Given the description of an element on the screen output the (x, y) to click on. 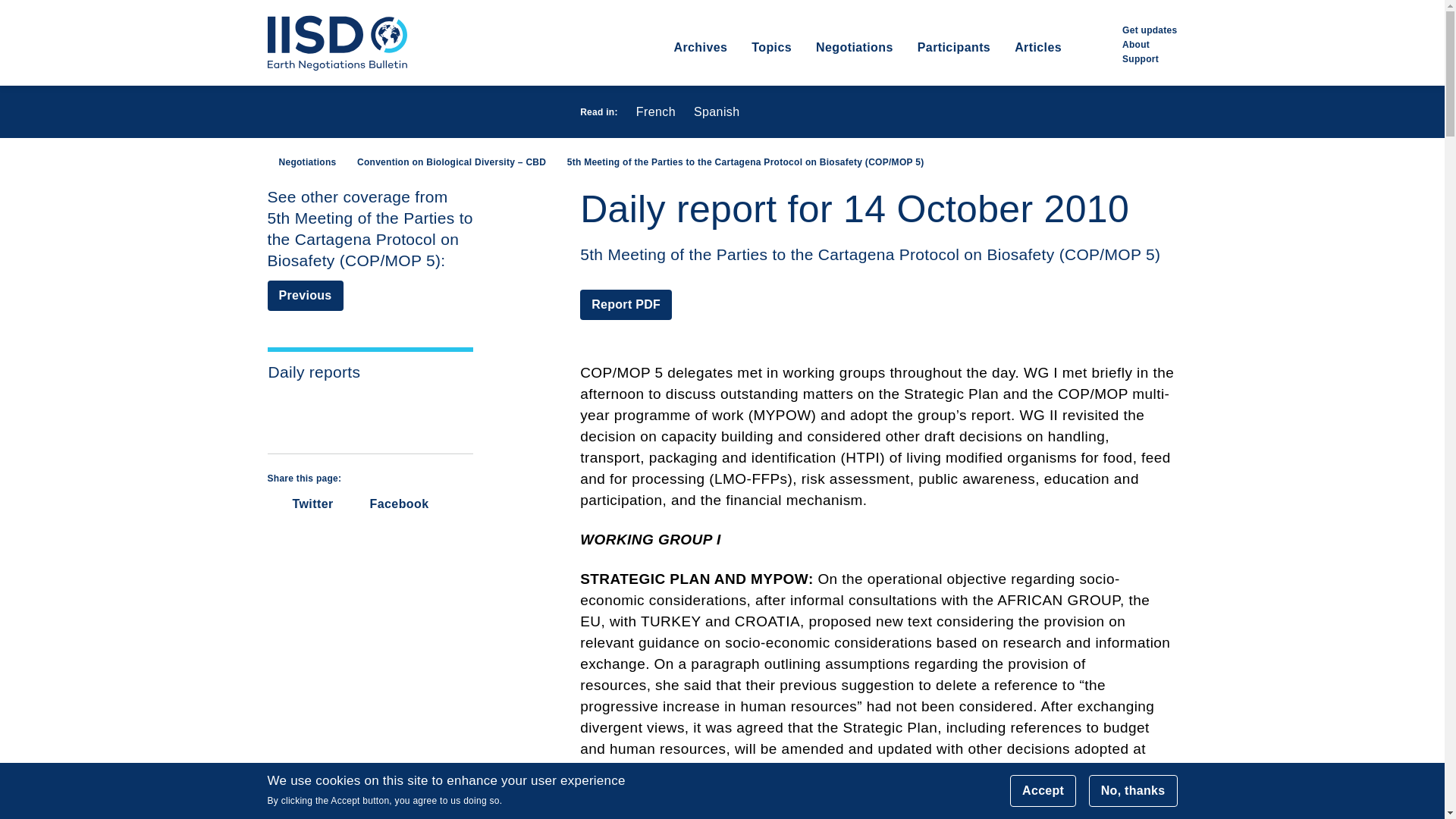
Report PDF (625, 304)
Spanish (716, 112)
Participants (953, 62)
Twitter (299, 503)
View this page in French (655, 112)
Return to the homepage (336, 43)
Negotiations (301, 162)
Negotiations (854, 62)
About (1136, 44)
Daily reports (369, 372)
